Given the description of an element on the screen output the (x, y) to click on. 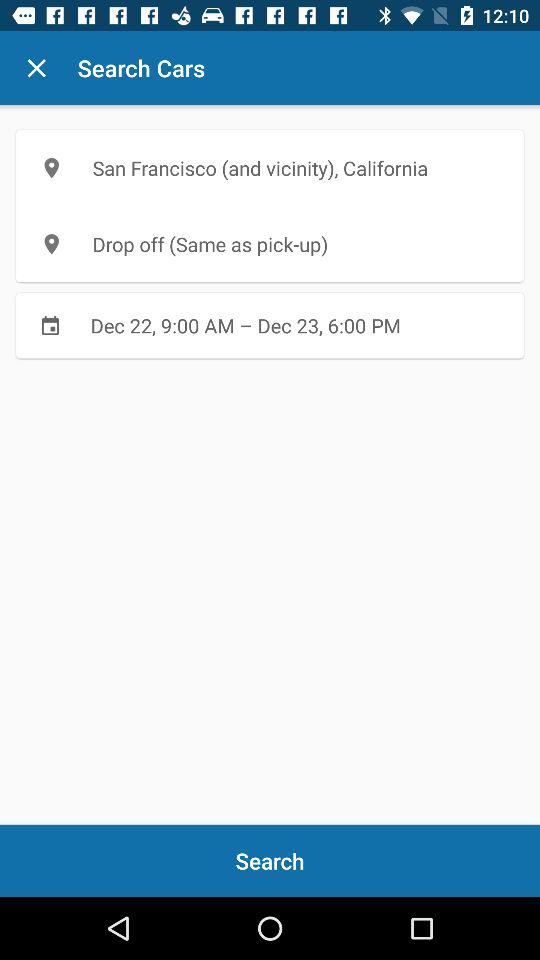
open the icon to the left of search cars (36, 68)
